Given the description of an element on the screen output the (x, y) to click on. 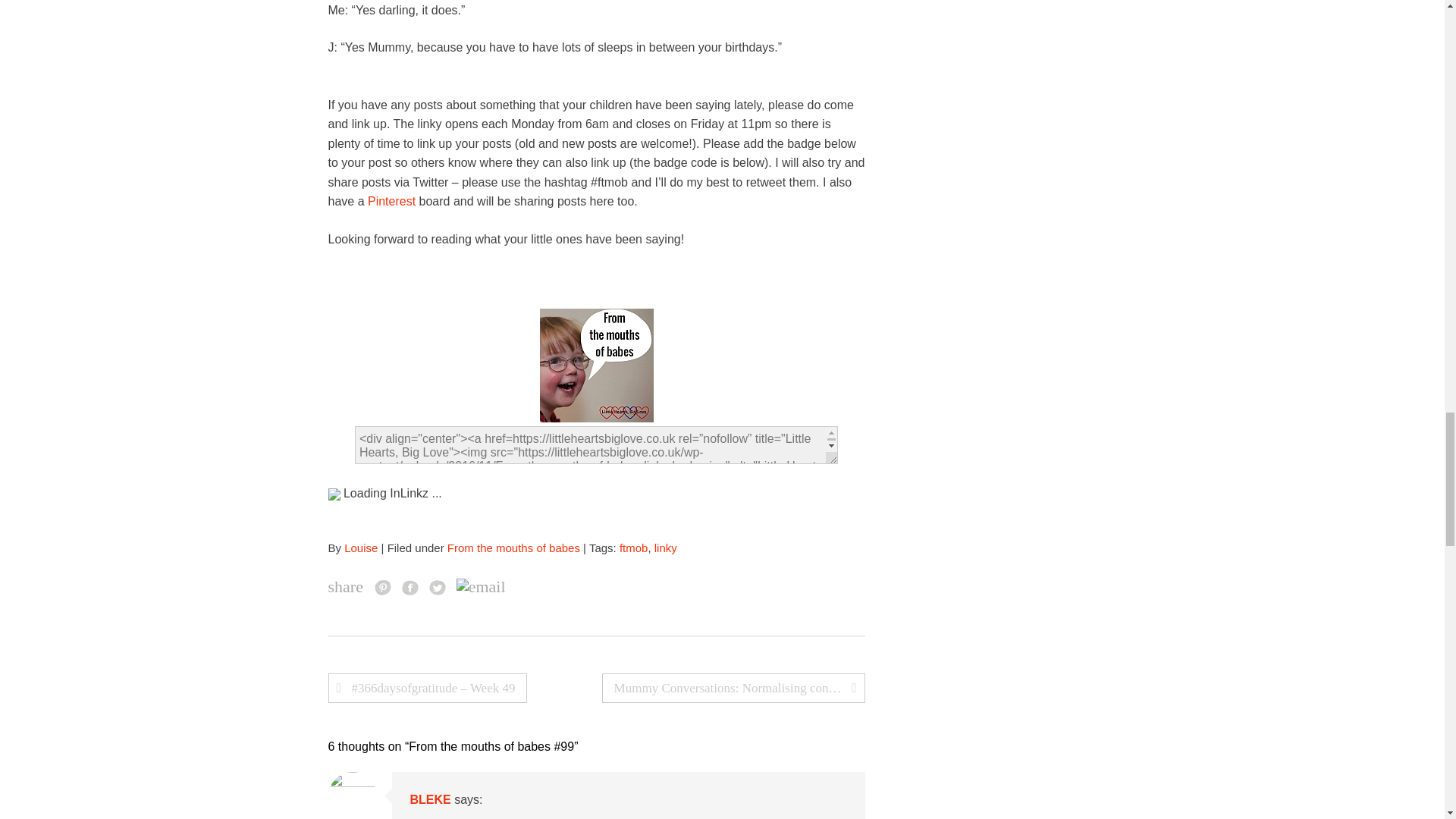
ftmob (633, 547)
From the mouths of babes (512, 547)
Little Hearts, Big Love (596, 365)
BLEKE (429, 799)
linky (665, 547)
Louise (360, 547)
Share by Email (481, 586)
Pinterest (391, 201)
